Given the description of an element on the screen output the (x, y) to click on. 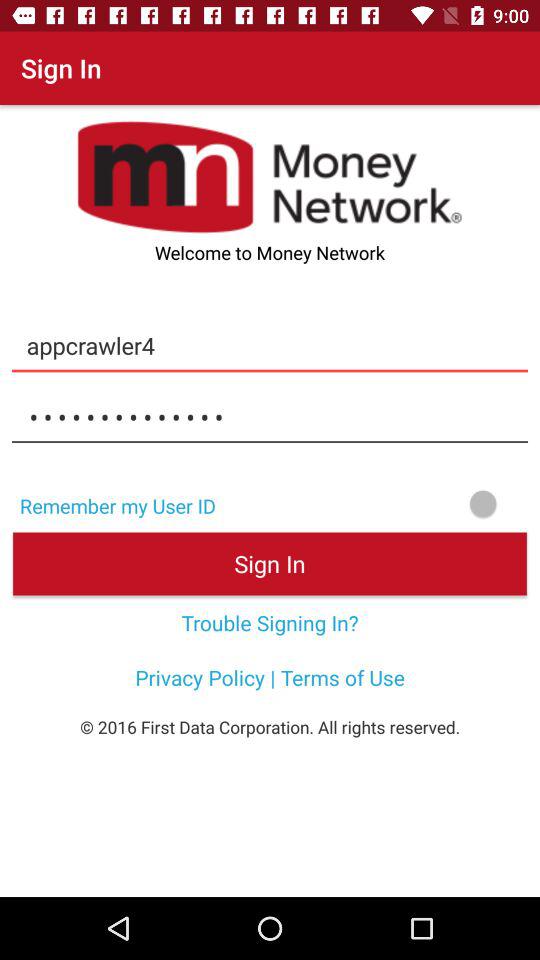
turn off the item above sign in (384, 503)
